Given the description of an element on the screen output the (x, y) to click on. 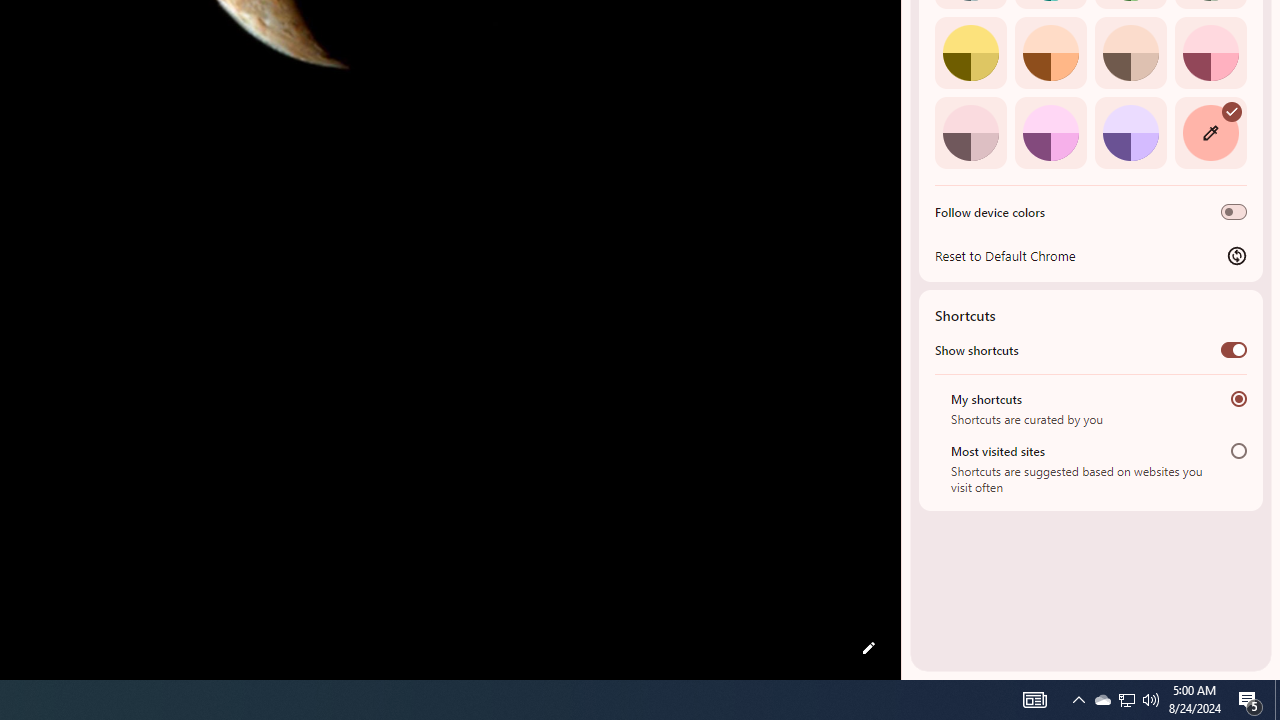
Reset to Default Chrome (1091, 255)
Fuchsia (1050, 132)
Rose (1210, 52)
Pink (970, 132)
Show shortcuts (1233, 349)
Apricot (1130, 52)
Orange (1050, 52)
Citron (970, 52)
Custom color (1210, 132)
Follow device colors (1233, 211)
Violet (1130, 132)
AutomationID: svg (1231, 110)
Most visited sites (1238, 450)
Side Panel Resize Handle (905, 39)
